Given the description of an element on the screen output the (x, y) to click on. 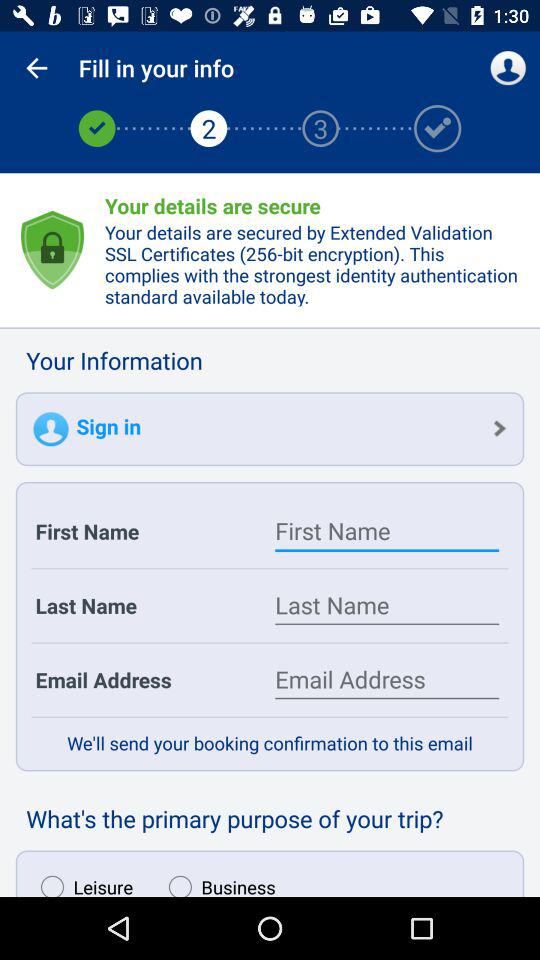
select app below what s the icon (82, 881)
